Given the description of an element on the screen output the (x, y) to click on. 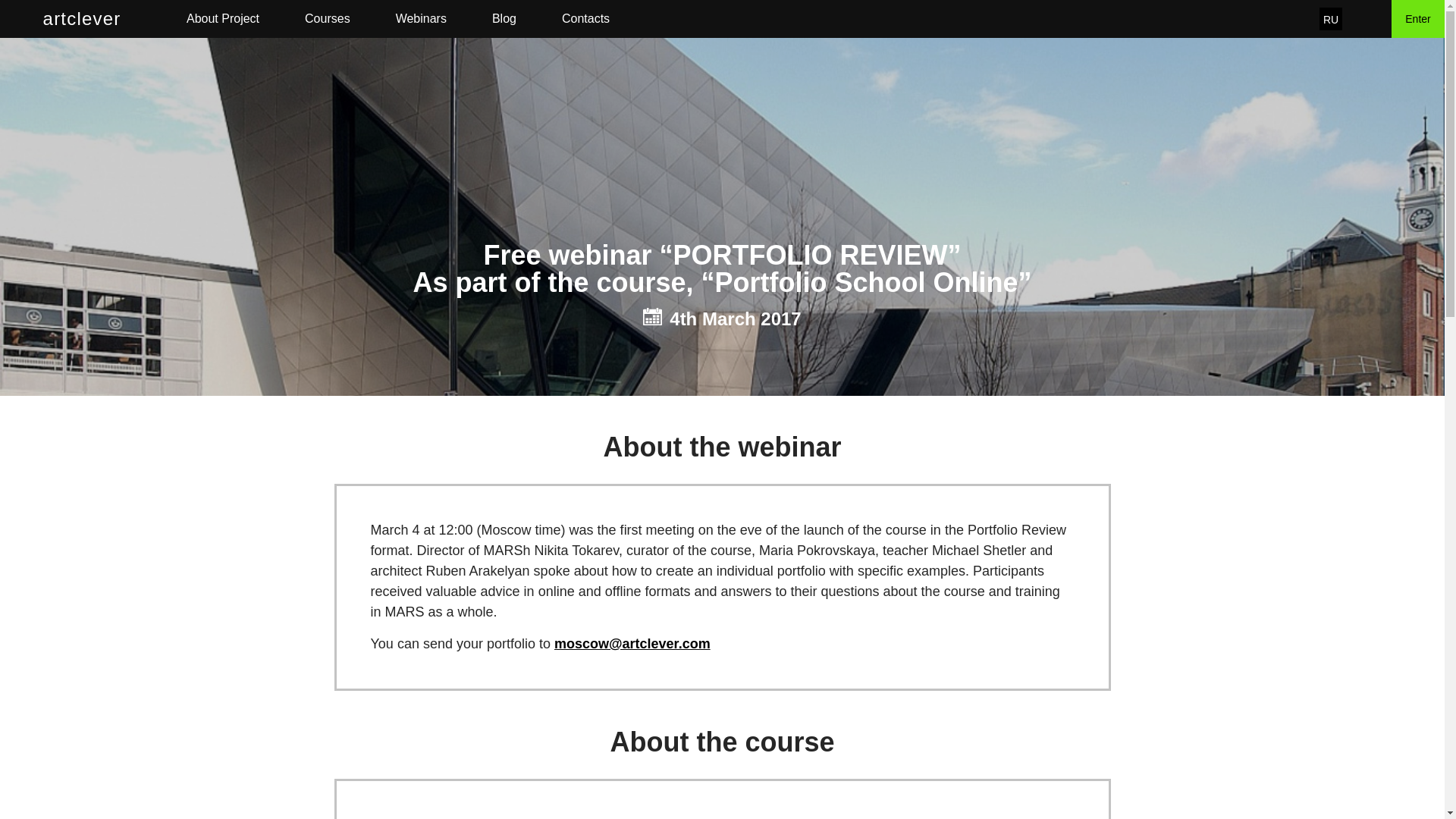
Blog (504, 18)
artclever (81, 18)
Courses (327, 18)
Contacts (586, 18)
Webinars (421, 18)
RU (1330, 18)
About Project (222, 18)
